Given the description of an element on the screen output the (x, y) to click on. 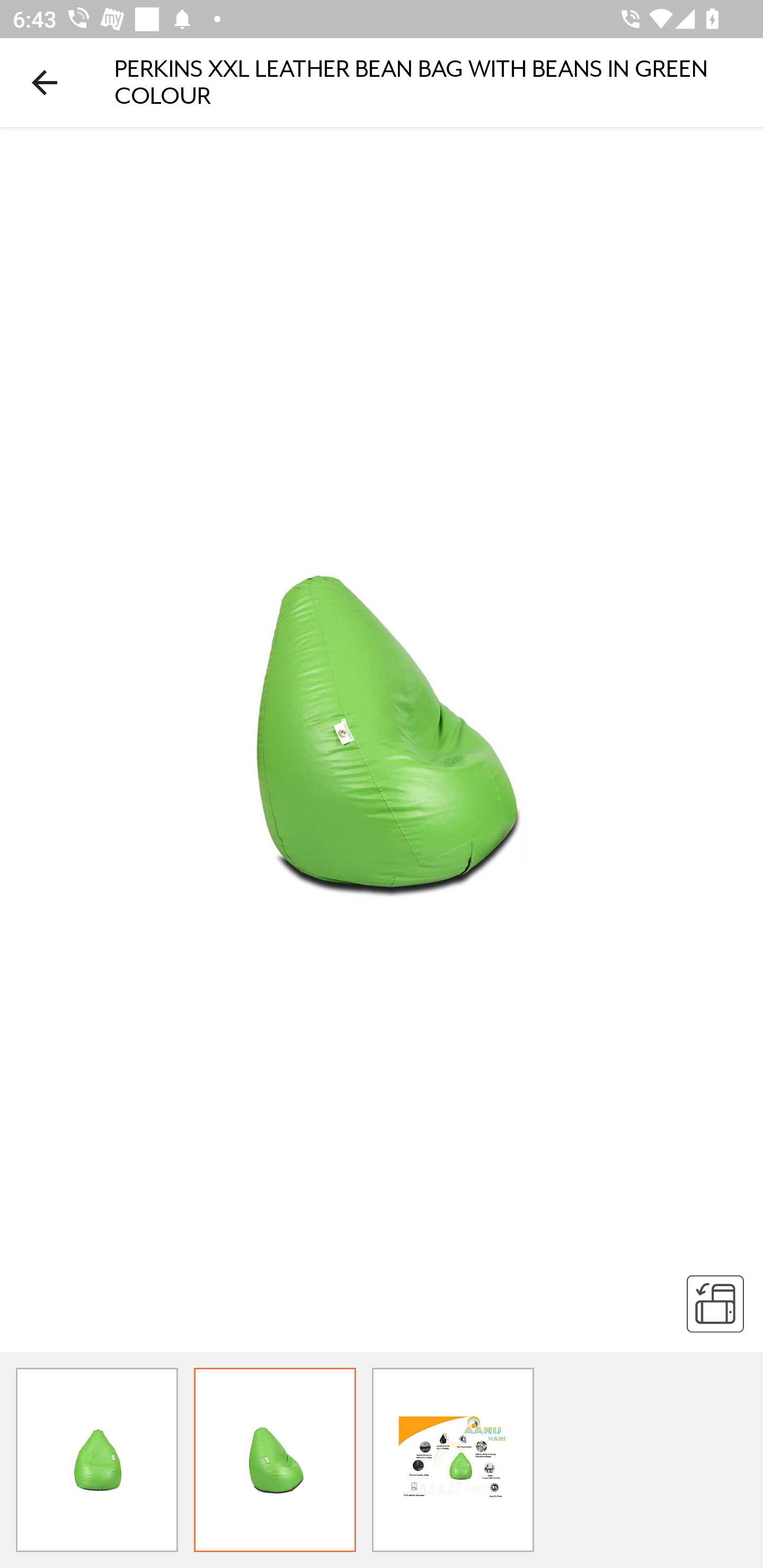
Navigate up (44, 82)
 (715, 1302)
